Given the description of an element on the screen output the (x, y) to click on. 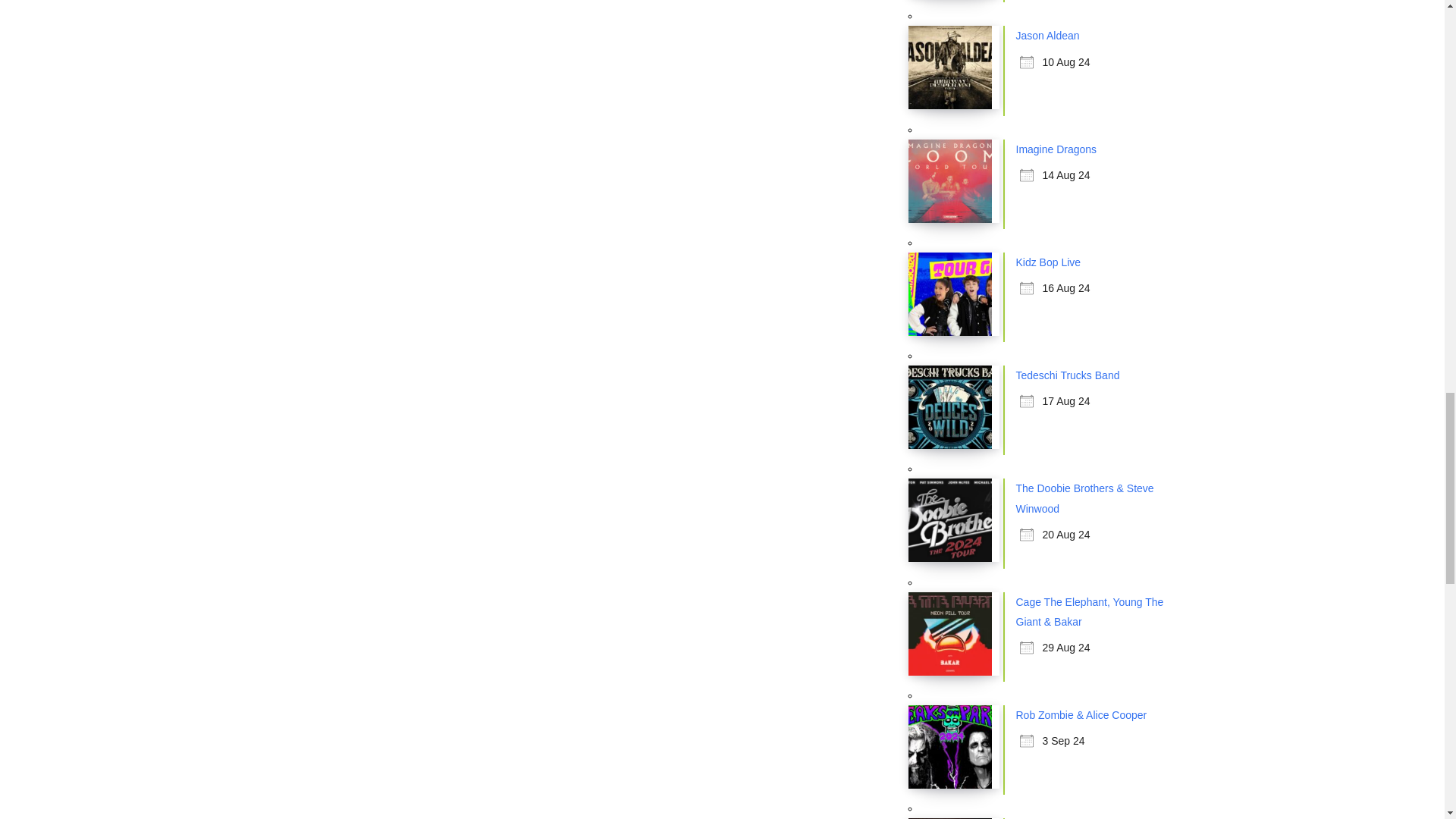
Jason Aldean (1048, 35)
Imagine Dragons (1056, 149)
Kidz Bop Live (1048, 262)
Tedeschi Trucks Band (1067, 375)
